Given the description of an element on the screen output the (x, y) to click on. 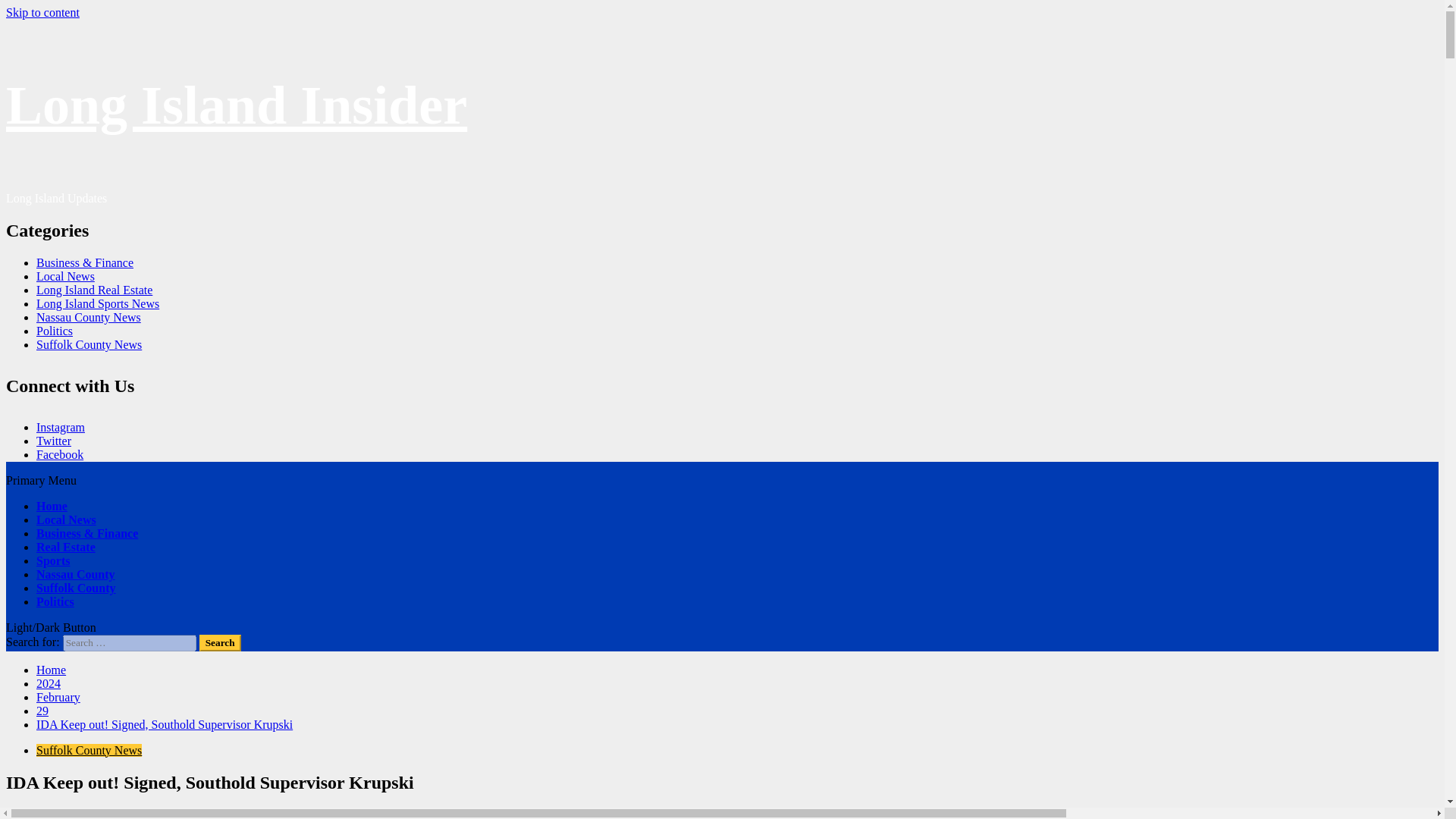
Nassau County (75, 574)
February (58, 697)
Search (220, 642)
Search (220, 642)
Admin (23, 813)
Facebook (59, 454)
Twitter (53, 440)
Suffolk County News (88, 749)
February 29, 2024 (88, 813)
Long Island Real Estate (94, 289)
29 (42, 710)
Suffolk County News (88, 344)
Search (220, 642)
Sports (52, 560)
2024 (48, 683)
